Given the description of an element on the screen output the (x, y) to click on. 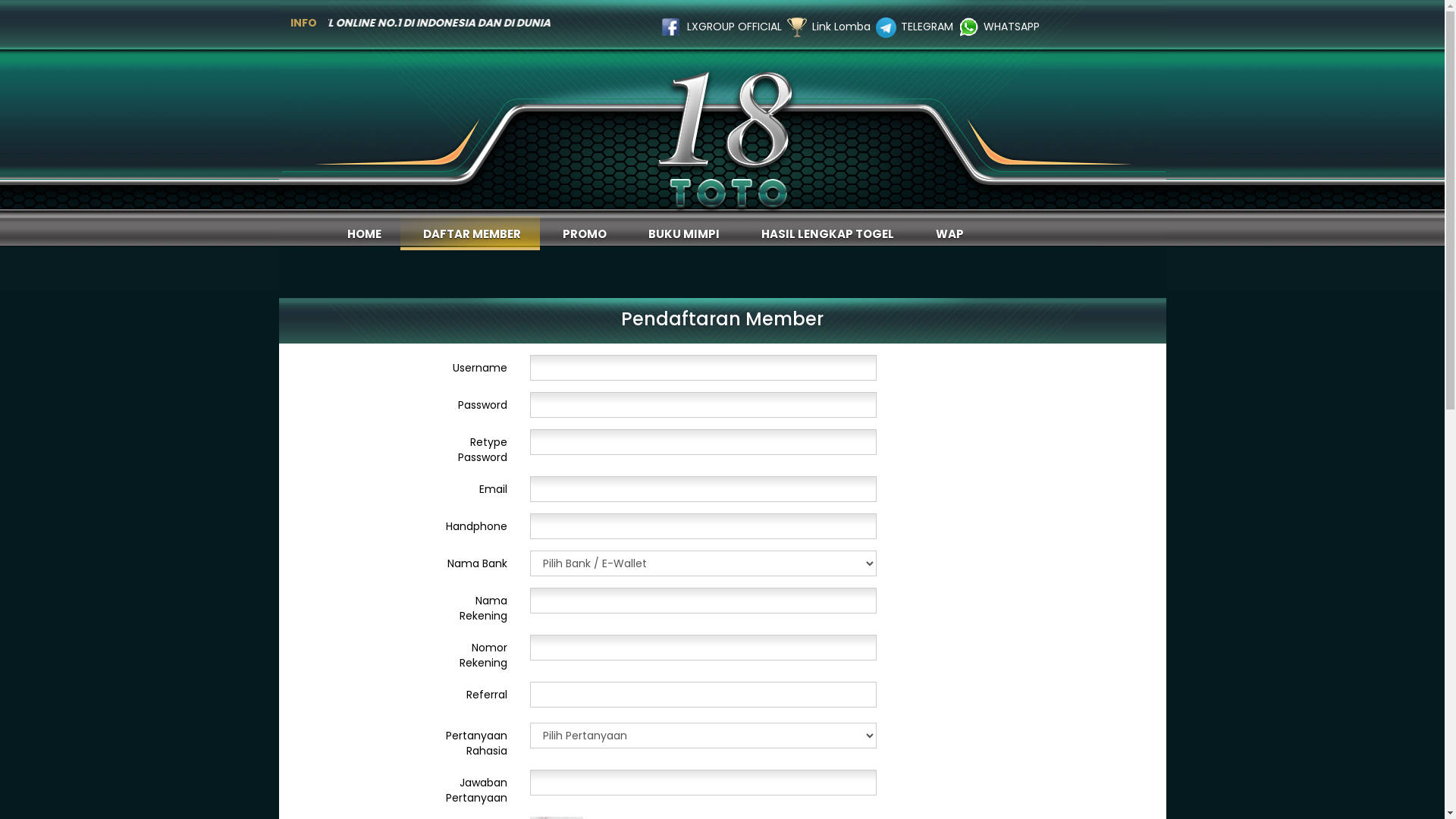
DAFTAR MEMBER Element type: text (469, 233)
WHATSAPP Element type: text (1011, 26)
HOME Element type: text (362, 233)
LXGROUP OFFICIAL Element type: text (734, 26)
WAP Element type: text (947, 233)
PROMO Element type: text (582, 233)
Link Lomba Element type: text (841, 26)
HASIL LENGKAP TOGEL Element type: text (825, 233)
BUKU MIMPI Element type: text (680, 233)
TELEGRAM Element type: text (926, 26)
